Given the description of an element on the screen output the (x, y) to click on. 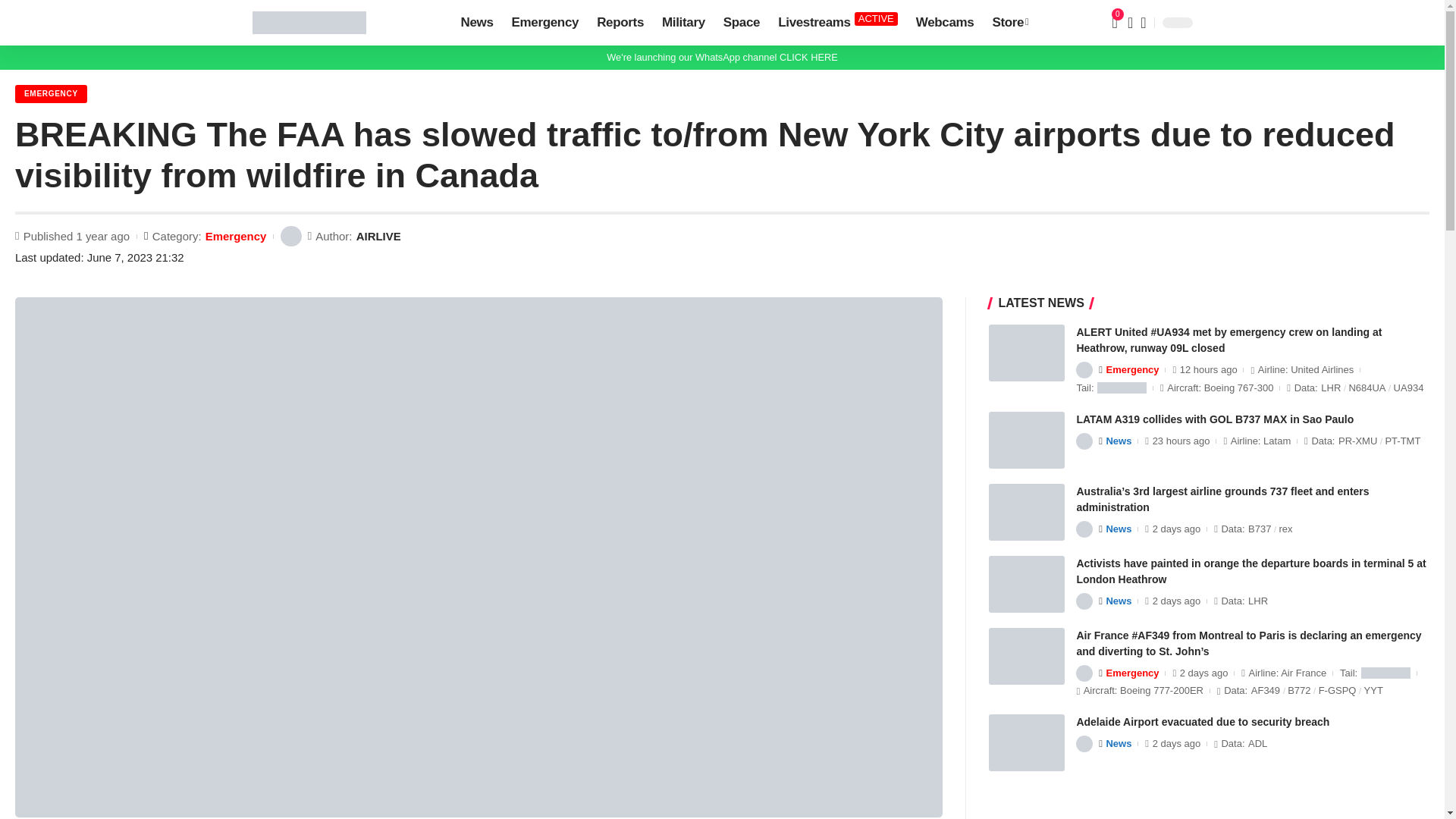
Emergency (545, 22)
News (476, 22)
Store (1009, 22)
LATAM A319 collides with GOL B737 MAX in Sao Paulo (1026, 439)
Adelaide Airport evacuated due to security breach (1026, 742)
Webcams (945, 22)
AIRLIVE (308, 22)
Reports (837, 22)
Military (620, 22)
Space (683, 22)
